Given the description of an element on the screen output the (x, y) to click on. 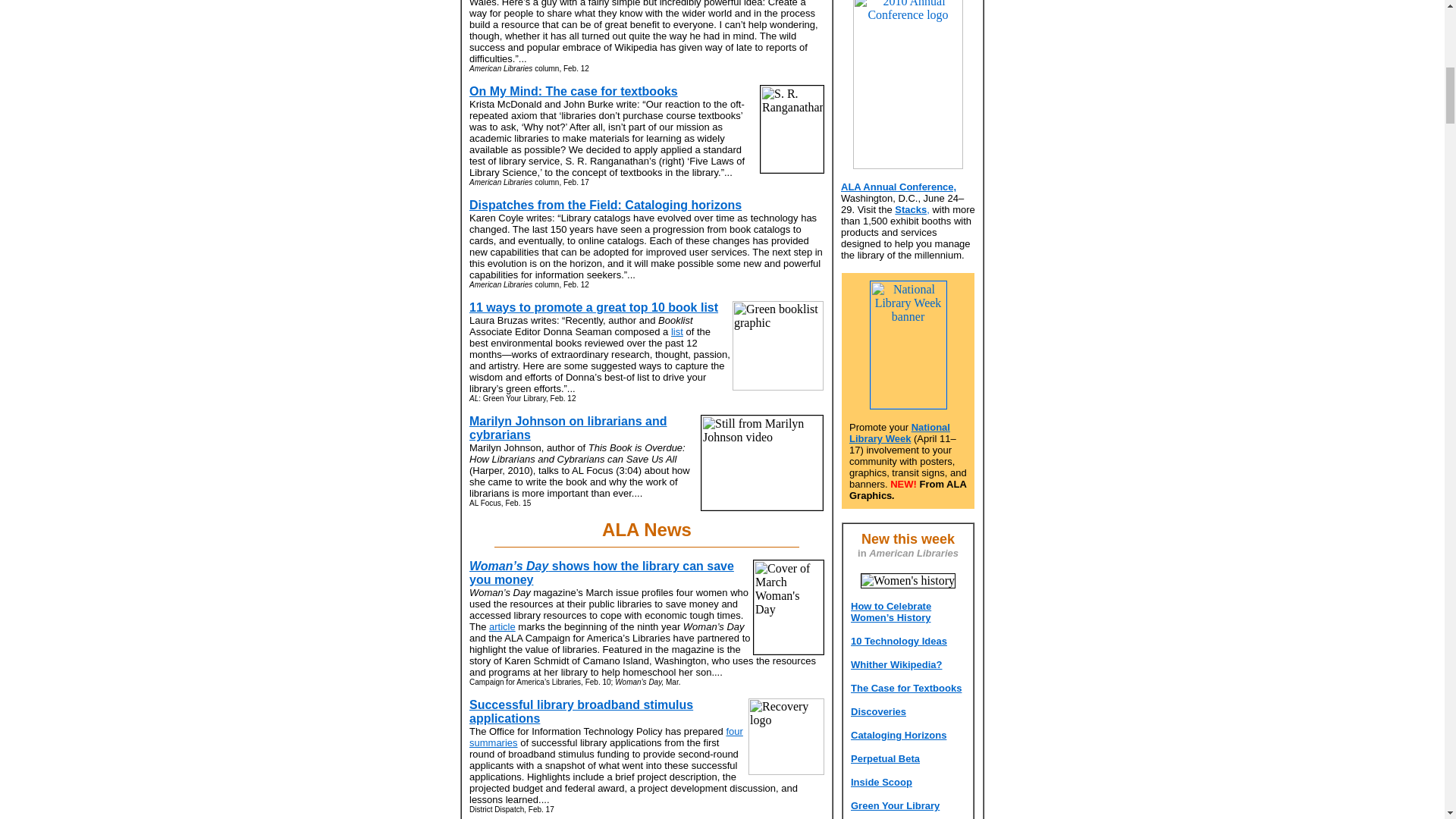
11 ways to promote a great top 10 book list (592, 307)
On My Mind: The case for textbooks (573, 91)
Marilyn Johnson on librarians and cybrarians (567, 427)
Recovery logo (786, 736)
article (502, 626)
Dispatches from the Field: Cataloging horizons (604, 205)
Successful library broadband stimulus applications (580, 711)
list (676, 331)
Still from Marilyn Johnson video (762, 462)
four summaries (605, 736)
